Given the description of an element on the screen output the (x, y) to click on. 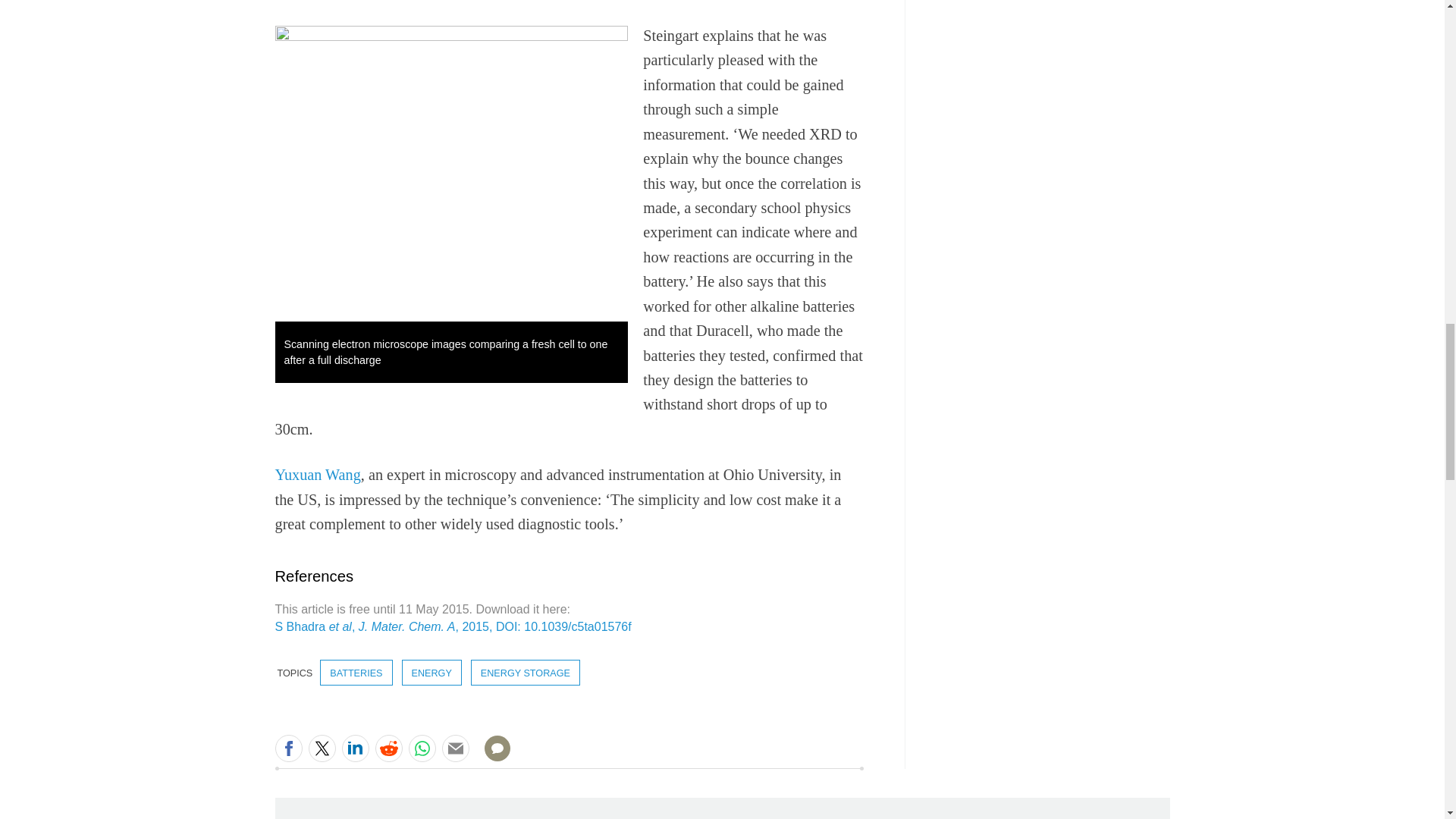
Share this on LinkedIn (354, 748)
Share this on Facebook (288, 748)
Share this on Reddit (387, 748)
Share this by email (454, 748)
Share this on WhatsApp (421, 748)
NO COMMENTS (492, 757)
